Given the description of an element on the screen output the (x, y) to click on. 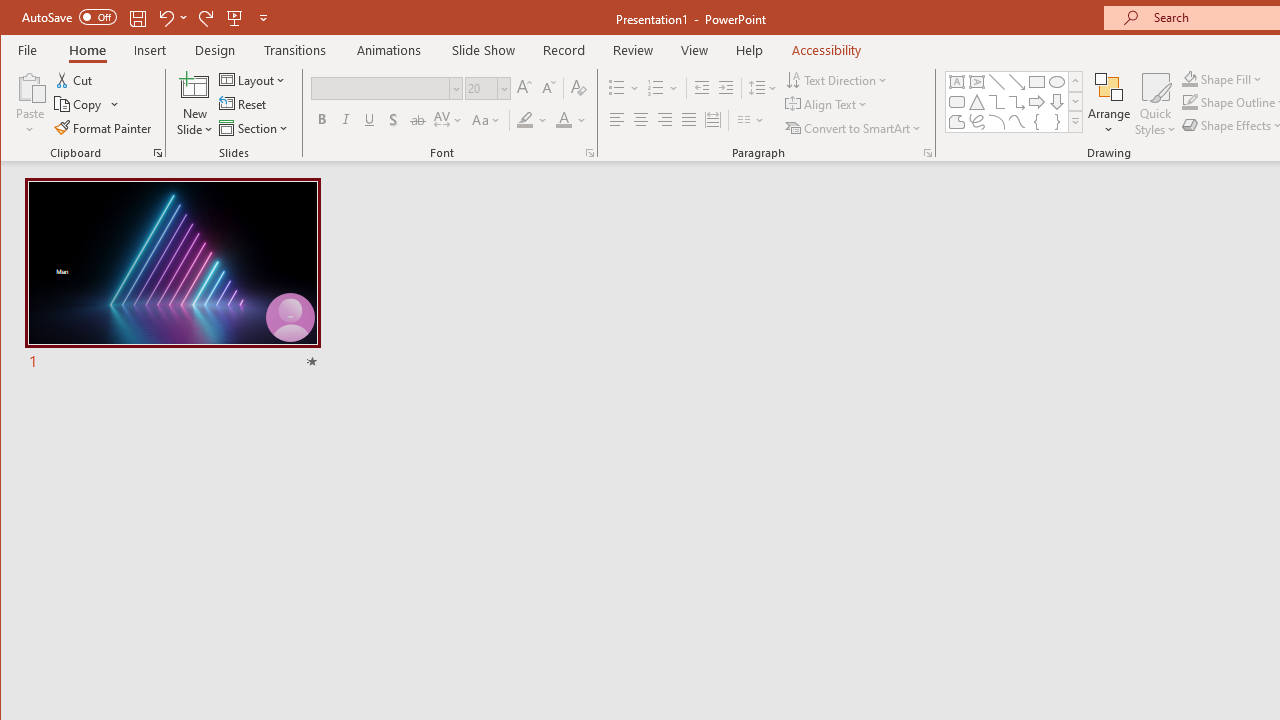
Text Highlight Color Yellow (525, 119)
Oval (1057, 82)
Bold (321, 119)
Increase Indent (726, 88)
Arrow: Down (1057, 102)
Arrow: Right (1036, 102)
Line (996, 82)
Freeform: Shape (956, 121)
Connector: Elbow (996, 102)
Text Box (956, 82)
